Given the description of an element on the screen output the (x, y) to click on. 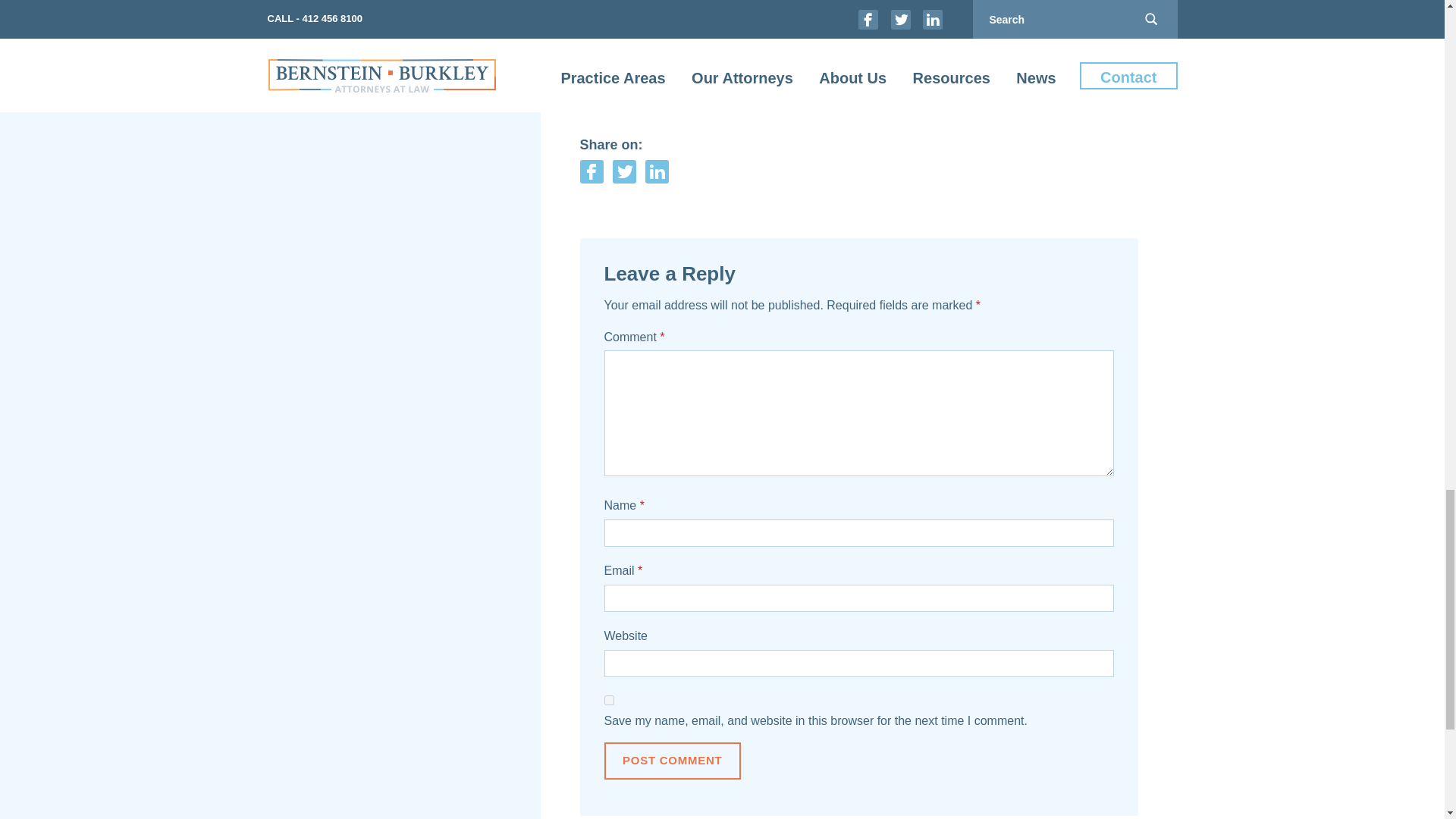
yes (608, 700)
Post Comment (672, 760)
